Given the description of an element on the screen output the (x, y) to click on. 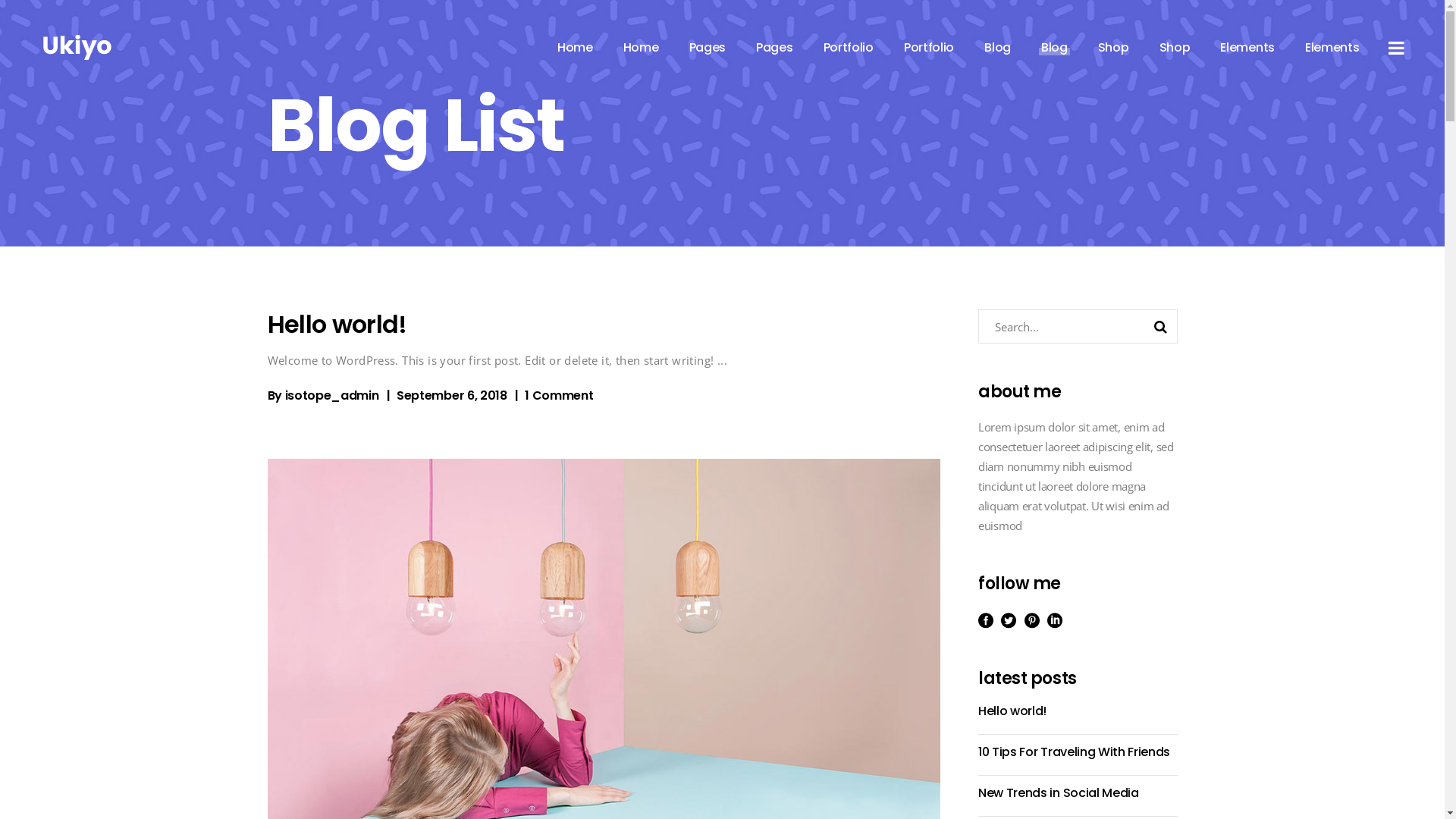
September 6, 2018 Element type: text (451, 395)
Hello world! Element type: text (336, 324)
Elements Element type: text (1331, 47)
isotope_admin Element type: text (332, 395)
Hello world! Element type: text (1012, 710)
Shop Element type: text (1174, 47)
Home Element type: text (641, 47)
Elements Element type: text (1246, 47)
Blog Element type: text (1054, 47)
Portfolio Element type: text (848, 47)
1 Comment Element type: text (558, 395)
Search for: Element type: hover (1061, 326)
10 Tips For Traveling With Friends Element type: text (1074, 751)
Pages Element type: text (706, 47)
Home Element type: text (575, 47)
Shop Element type: text (1113, 47)
Portfolio Element type: text (928, 47)
Pages Element type: text (774, 47)
New Trends in Social Media Element type: text (1058, 792)
Blog Element type: text (997, 47)
